Given the description of an element on the screen output the (x, y) to click on. 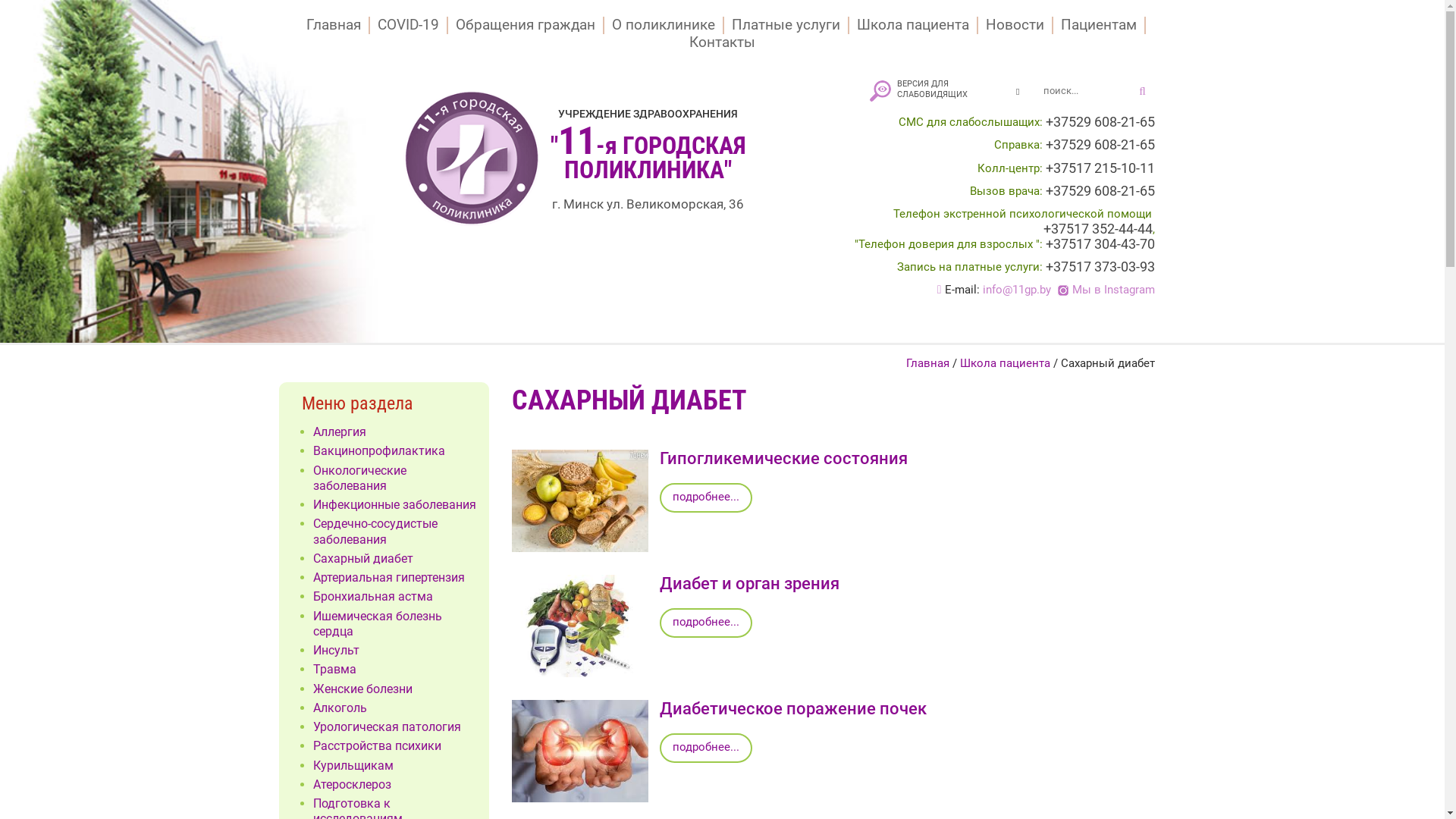
+37529 608-21-65 Element type: text (1099, 121)
+37517 352-44-44 Element type: text (1097, 228)
info@11gp.by Element type: text (1016, 289)
+37517 215-10-11 Element type: text (1099, 167)
+37529 608-21-65 Element type: text (1099, 144)
COVID-19 Element type: text (409, 25)
+37529 608-21-65 Element type: text (1099, 190)
+37517 304-43-70 Element type: text (1099, 243)
+37517 373-03-93 Element type: text (1099, 266)
